Given the description of an element on the screen output the (x, y) to click on. 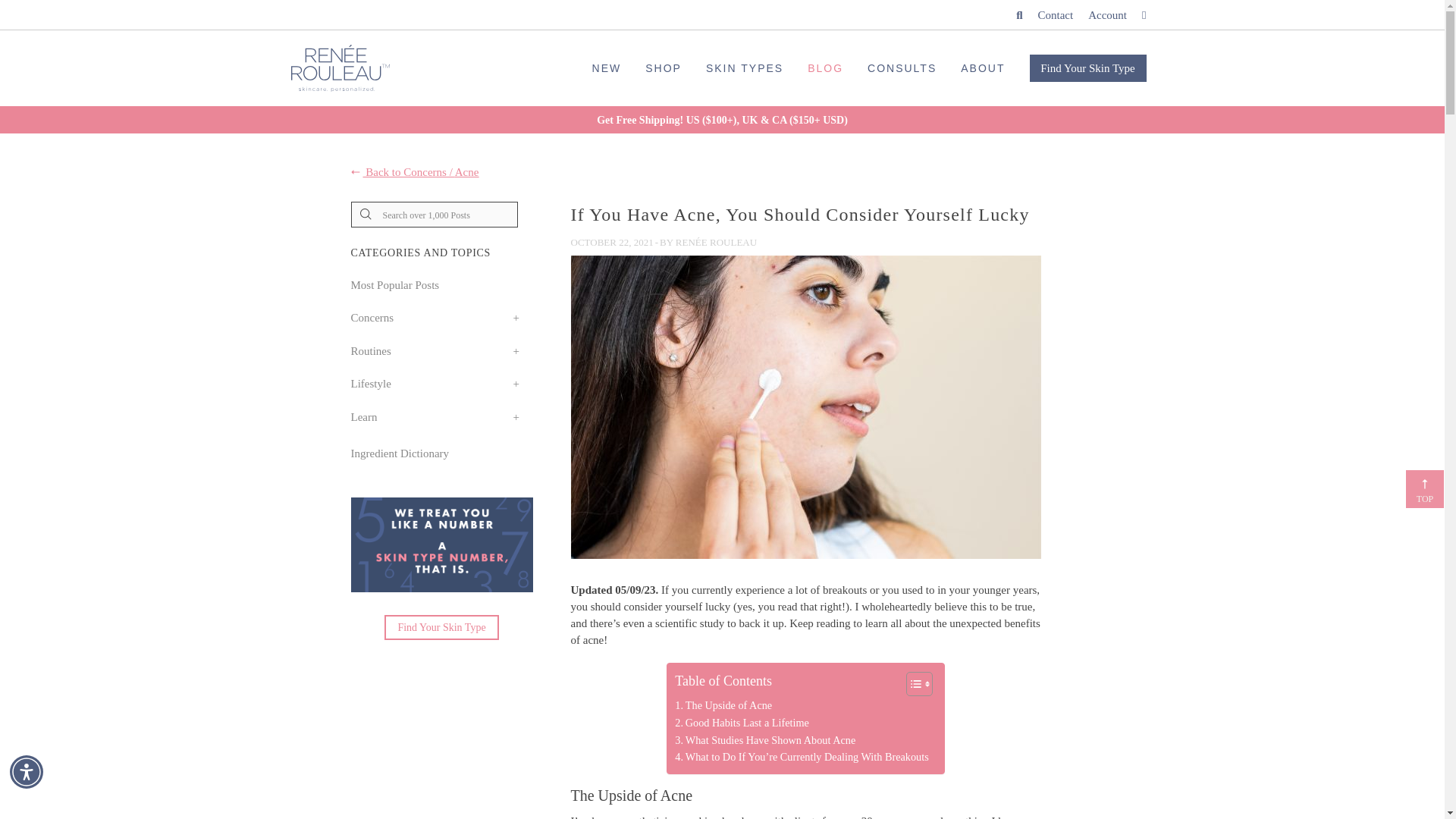
Accessibility Menu (26, 771)
take the renee rouleau skincare quiz (441, 544)
Account (1106, 15)
Contact (1056, 15)
find your skin type (440, 627)
